Given the description of an element on the screen output the (x, y) to click on. 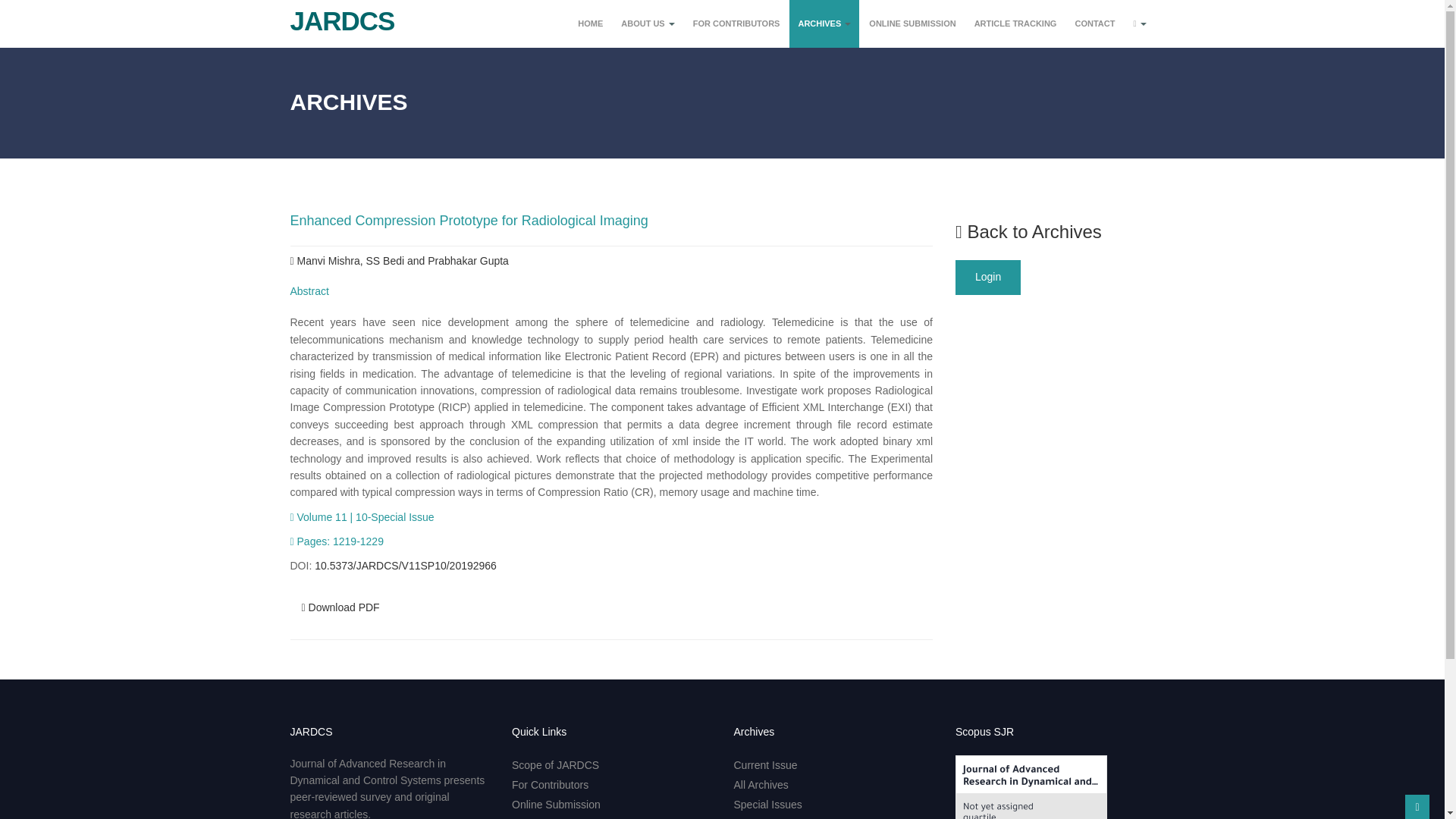
Back to Archives (1028, 231)
All Archives (761, 784)
Current Issue (765, 765)
ARTICLE TRACKING (1015, 23)
ABOUT US (647, 23)
FOR CONTRIBUTORS (736, 23)
ARCHIVES (824, 23)
CONTACT (1093, 23)
For Contributors (550, 784)
Login (987, 277)
JARDCS (336, 14)
ONLINE SUBMISSION (911, 23)
Special Issues (767, 804)
Online Submission (555, 804)
Scope of JARDCS (555, 765)
